Given the description of an element on the screen output the (x, y) to click on. 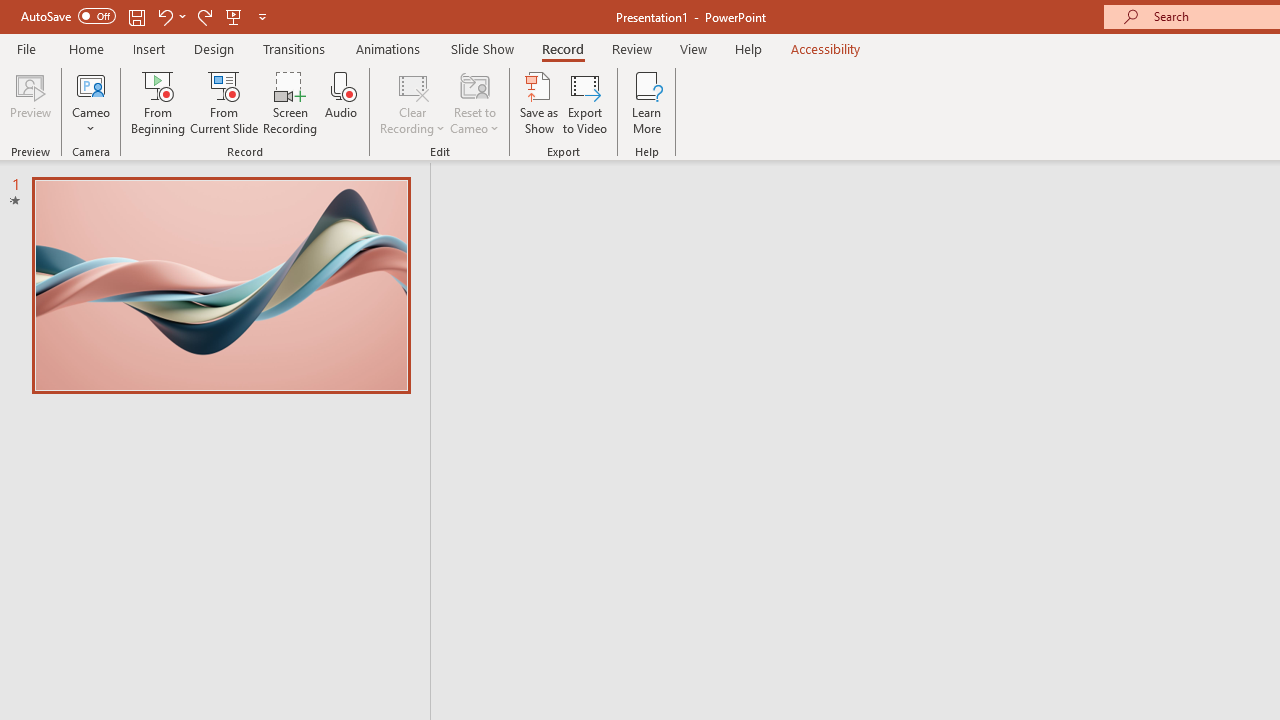
From Beginning... (158, 102)
Preview (30, 102)
Export to Video (585, 102)
Screen Recording (290, 102)
Save as Show (539, 102)
